Given the description of an element on the screen output the (x, y) to click on. 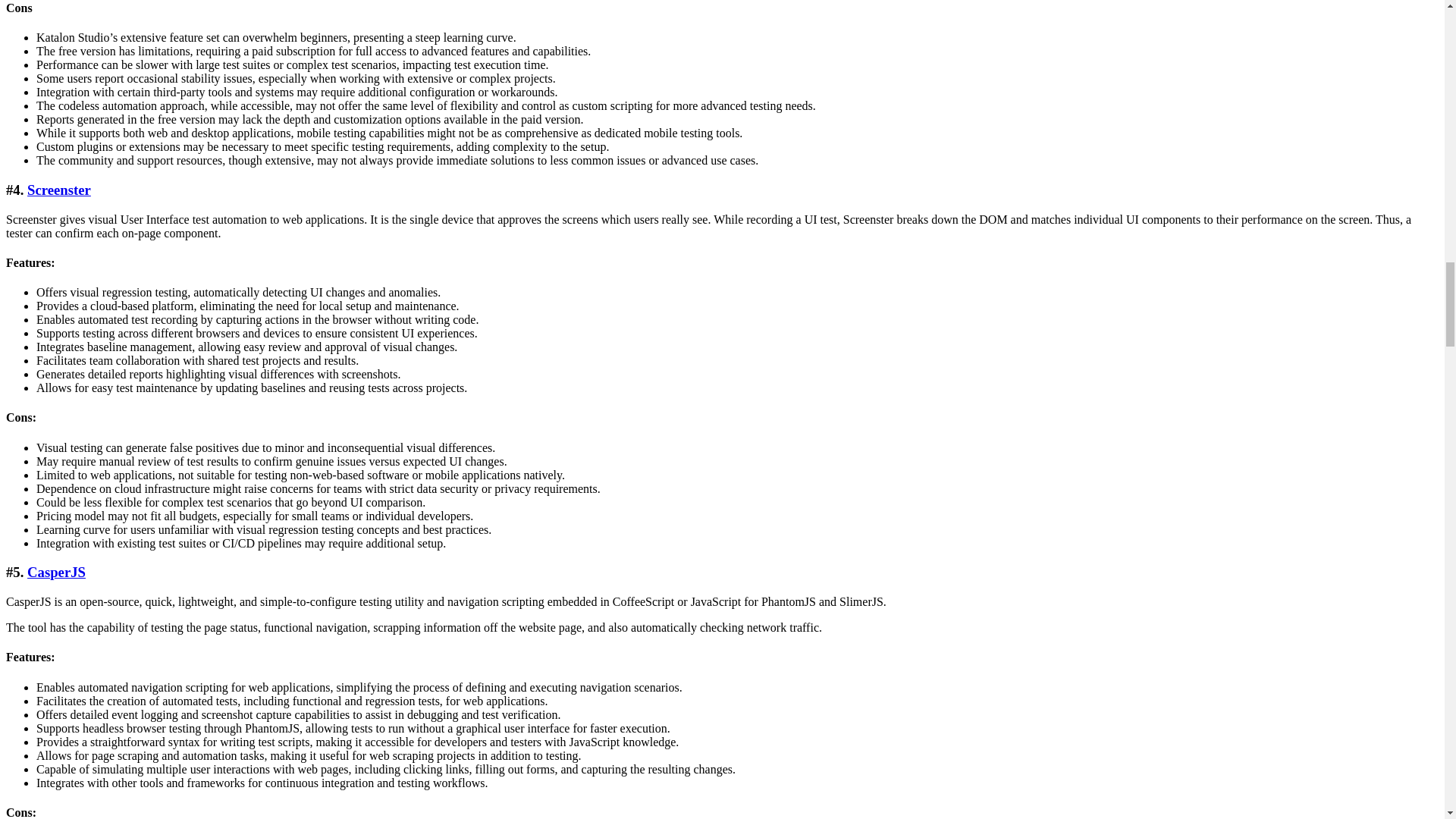
CasperJS (56, 571)
Screenster (58, 189)
